Given the description of an element on the screen output the (x, y) to click on. 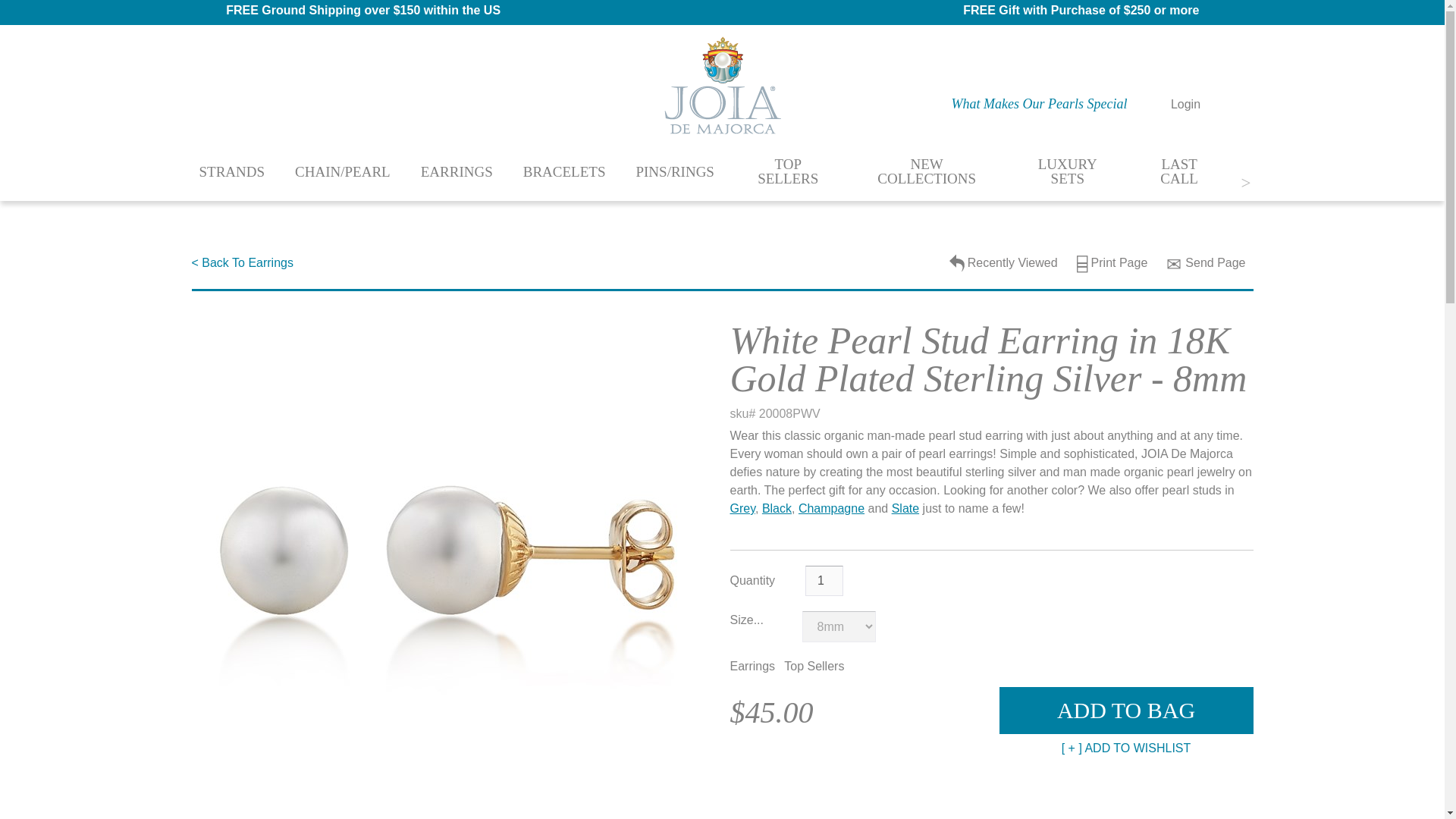
Champagne (830, 508)
Back To Earrings (248, 262)
Slate (904, 508)
Print Page (1110, 263)
Black (776, 508)
STRANDS (231, 170)
EARRINGS (457, 170)
LUXURY SETS (1067, 170)
Recently Viewed (1003, 263)
0 (1229, 103)
